Given the description of an element on the screen output the (x, y) to click on. 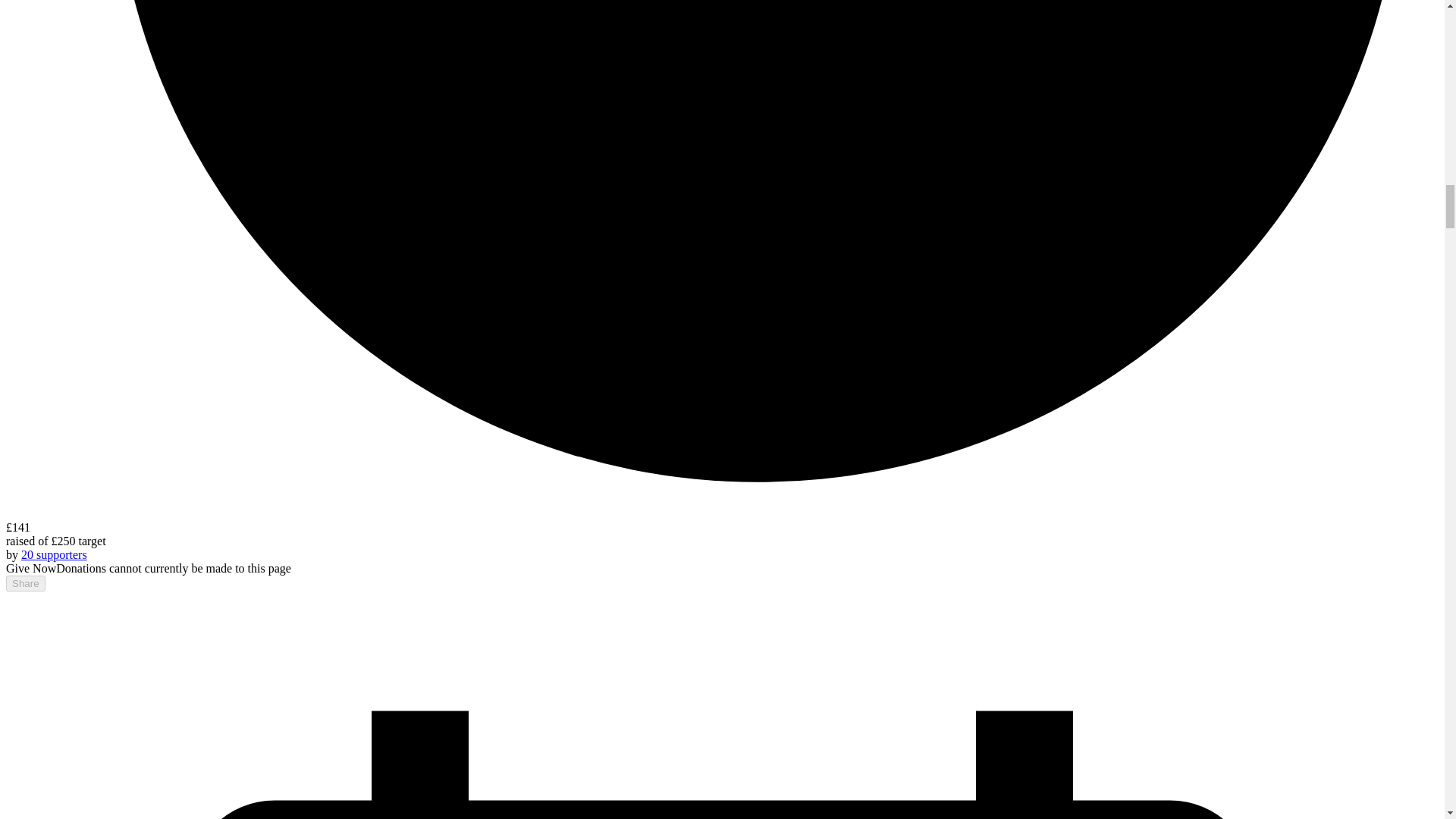
20 supporters (54, 554)
Share (25, 583)
